Given the description of an element on the screen output the (x, y) to click on. 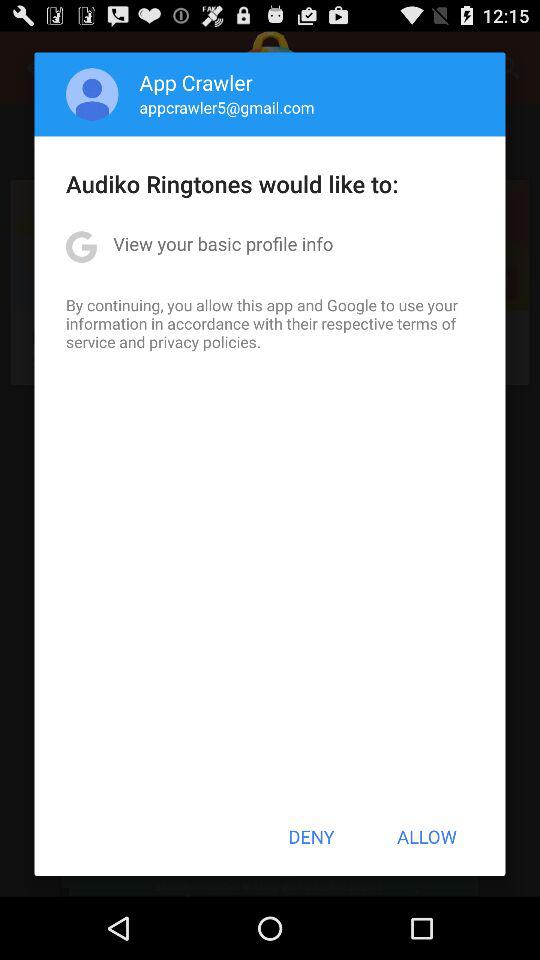
turn on the view your basic item (223, 243)
